Given the description of an element on the screen output the (x, y) to click on. 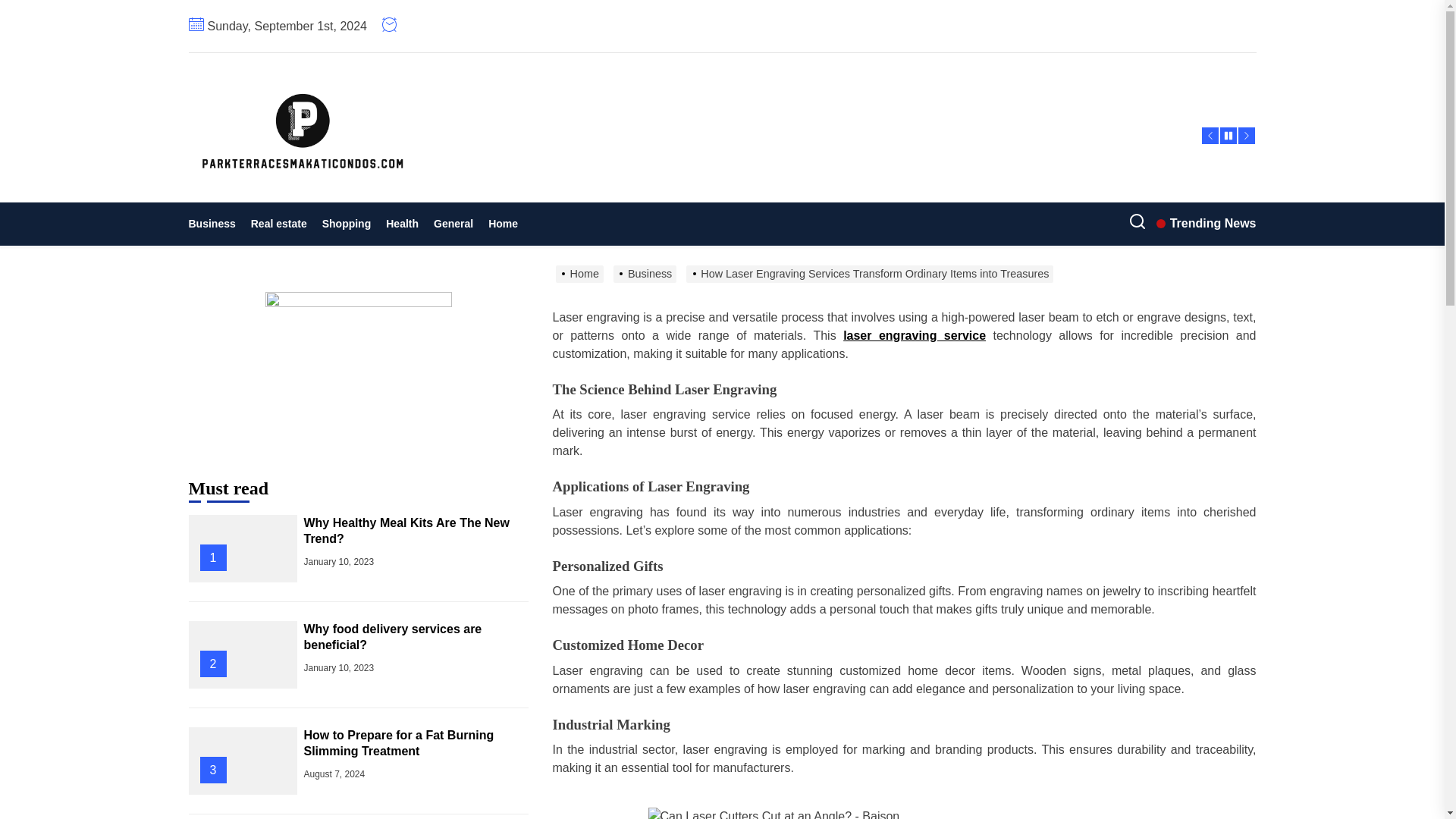
General (453, 223)
Real estate (278, 223)
Health (402, 223)
Business (215, 223)
Home (502, 223)
Shopping (346, 223)
PARK TERRACES MAKATI CONDOS (516, 206)
Trending News (1206, 223)
